Given the description of an element on the screen output the (x, y) to click on. 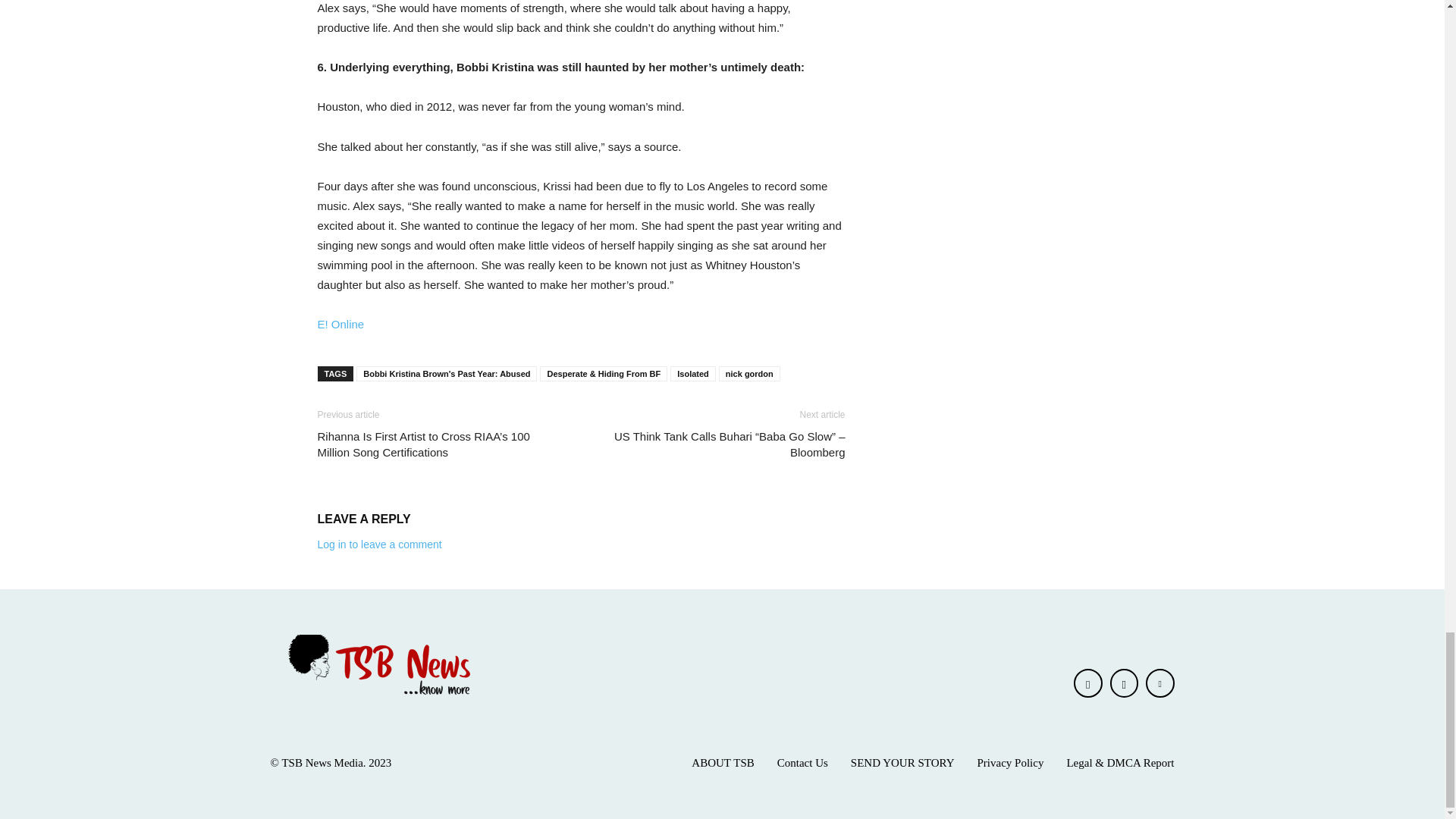
E! Online (340, 323)
Bobbi Kristina Brown's Past Year: Abused (446, 373)
